Given the description of an element on the screen output the (x, y) to click on. 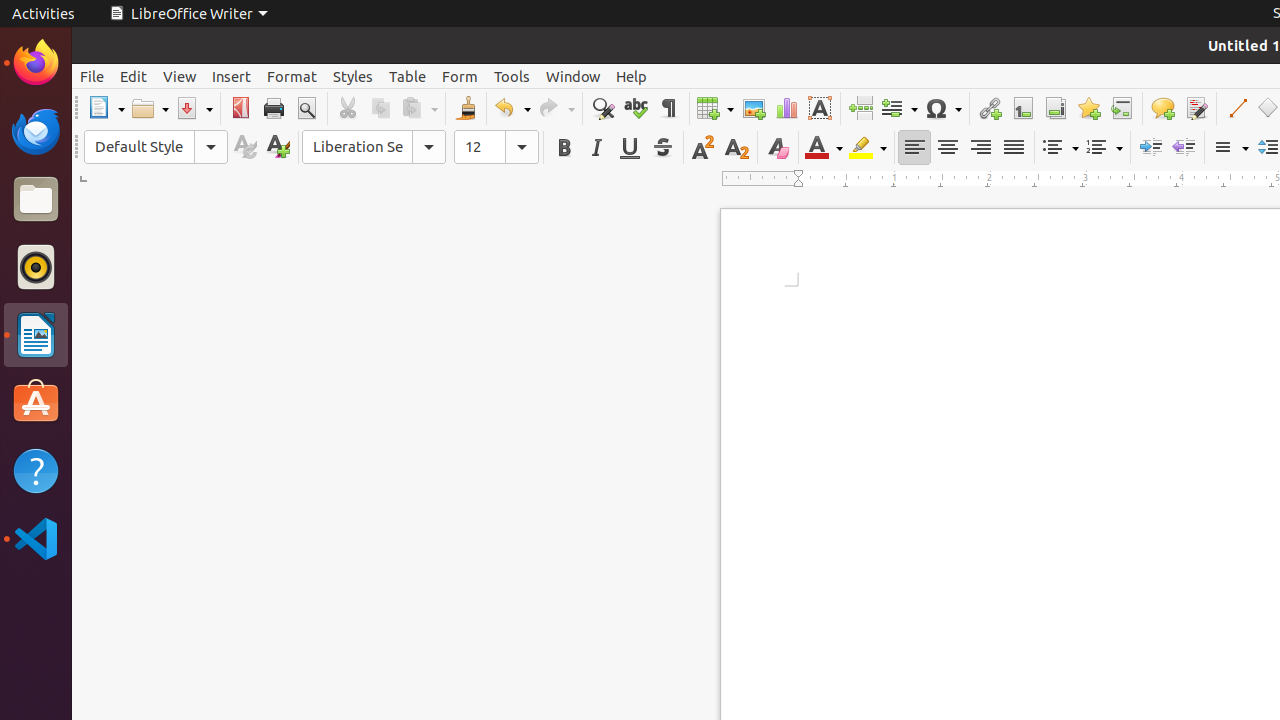
Highlight Color Element type: push-button (868, 147)
Comment Element type: push-button (1162, 108)
Symbol Element type: push-button (943, 108)
Font Size Element type: combo-box (496, 147)
PDF Element type: push-button (240, 108)
